Given the description of an element on the screen output the (x, y) to click on. 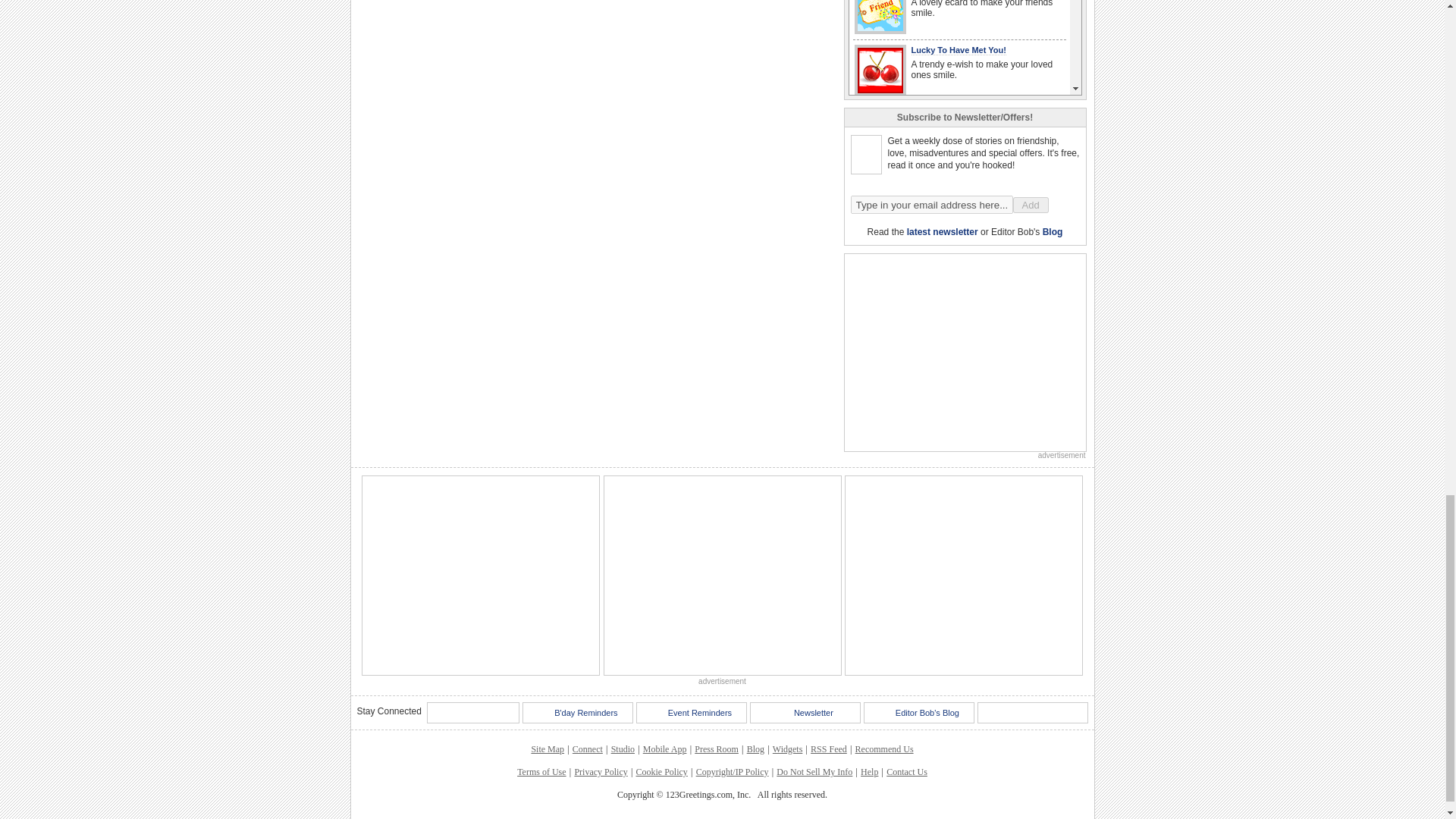
Type in your email address here... (931, 204)
